Given the description of an element on the screen output the (x, y) to click on. 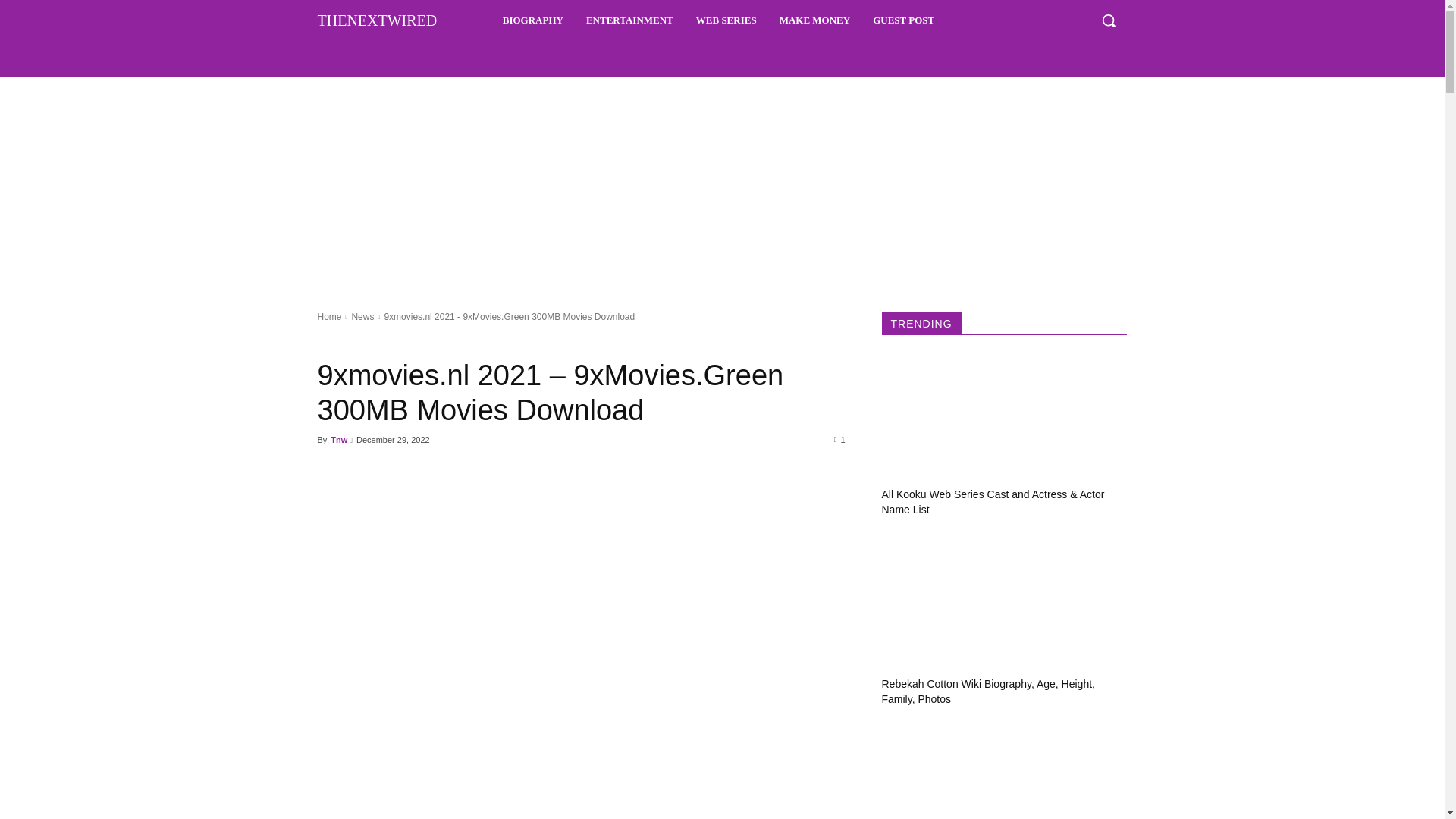
Home (328, 317)
BIOGRAPHY (532, 20)
MAKE MONEY (815, 20)
ENTERTAINMENT (629, 20)
GUEST POST (903, 20)
View all posts in News (362, 317)
THENEXTWIRED (376, 20)
1 (839, 438)
WEB SERIES (726, 20)
